Given the description of an element on the screen output the (x, y) to click on. 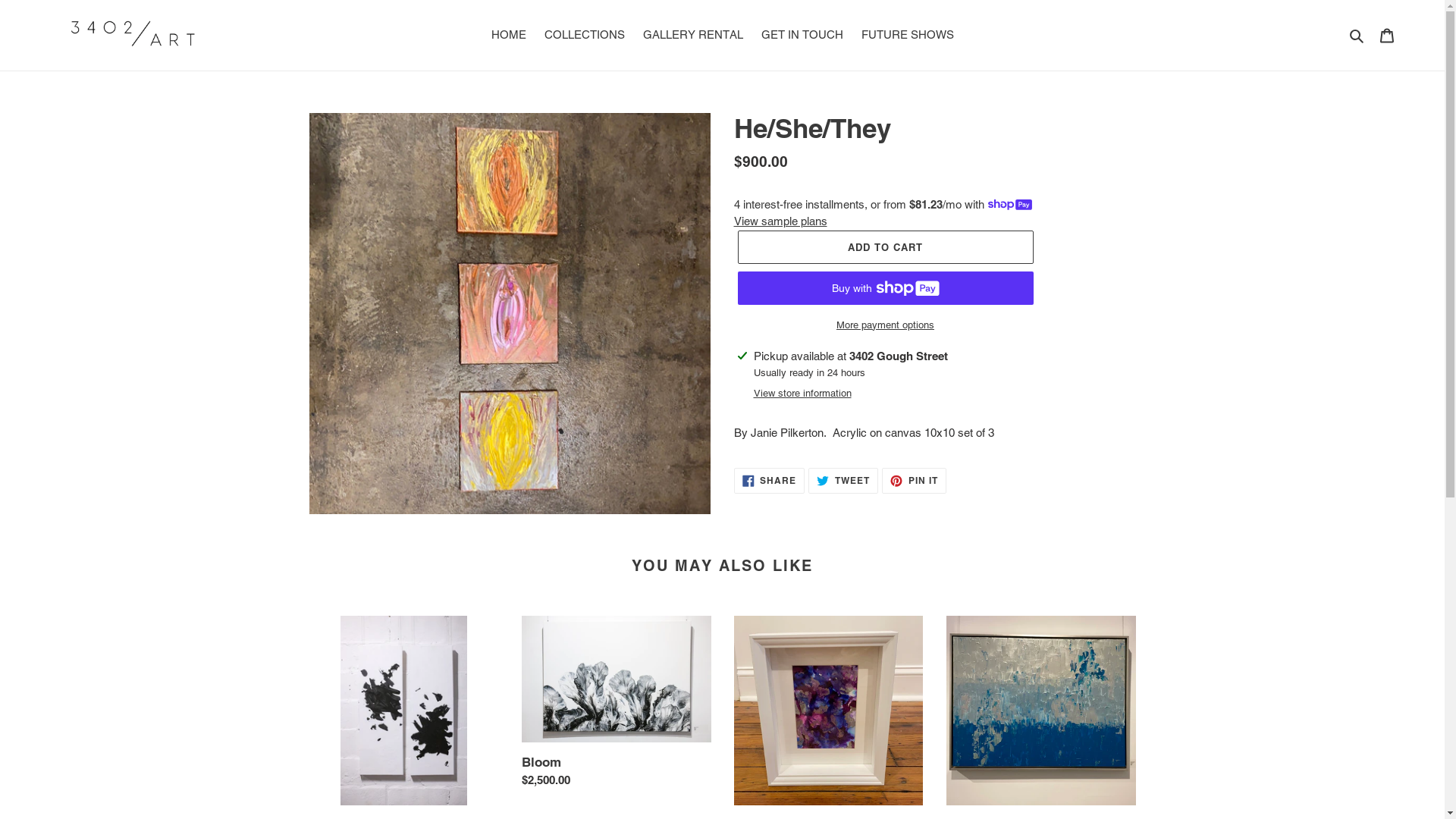
Cart Element type: text (1386, 34)
HOME Element type: text (508, 35)
ADD TO CART Element type: text (884, 246)
View store information Element type: text (802, 393)
TWEET
TWEET ON TWITTER Element type: text (843, 480)
Bloom Element type: text (616, 704)
GALLERY RENTAL Element type: text (692, 35)
SHARE
SHARE ON FACEBOOK Element type: text (769, 480)
PIN IT
PIN ON PINTEREST Element type: text (913, 480)
FUTURE SHOWS Element type: text (907, 35)
GET IN TOUCH Element type: text (801, 35)
More payment options Element type: text (884, 324)
Search Element type: text (1357, 34)
COLLECTIONS Element type: text (584, 35)
